Given the description of an element on the screen output the (x, y) to click on. 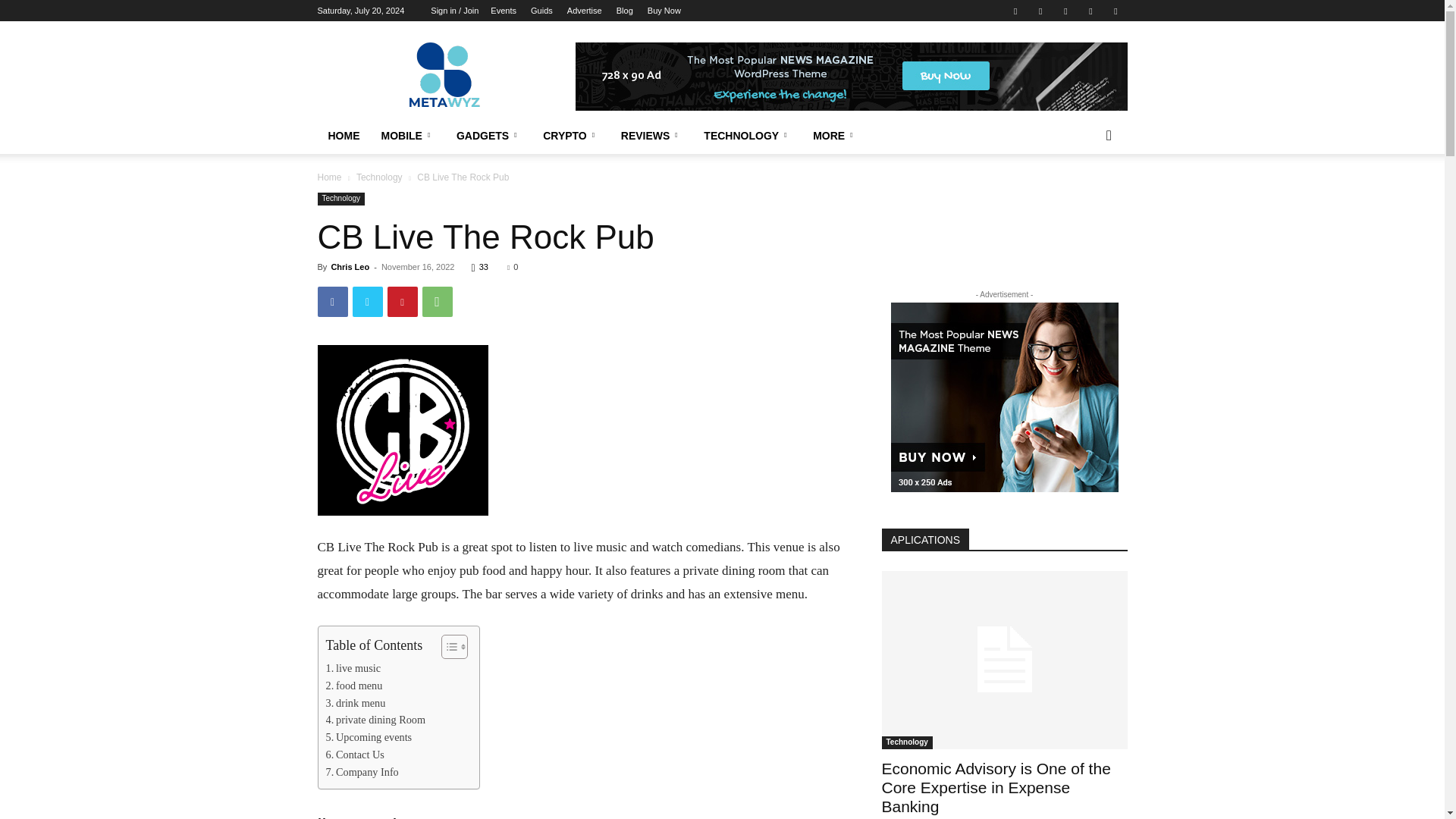
Twitter (1040, 10)
Youtube (1114, 10)
Advertise (584, 10)
Events (503, 10)
VKontakte (1090, 10)
Buy Now (664, 10)
Facebook (1015, 10)
Guids (542, 10)
Vimeo (1065, 10)
Blog (624, 10)
